Given the description of an element on the screen output the (x, y) to click on. 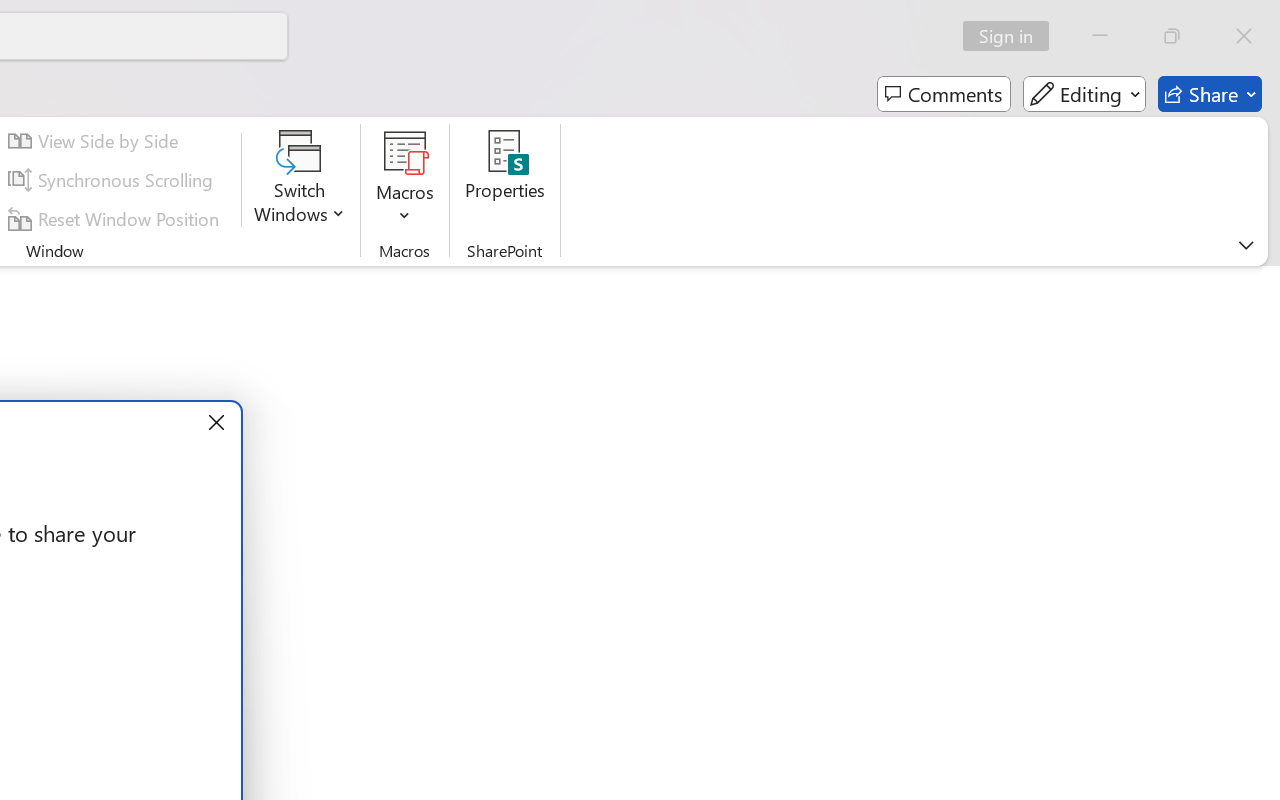
Macros (404, 179)
Properties (505, 179)
View Macros (404, 151)
Switch Windows (299, 179)
View Side by Side (96, 141)
Reset Window Position (116, 218)
Synchronous Scrolling (114, 179)
